Given the description of an element on the screen output the (x, y) to click on. 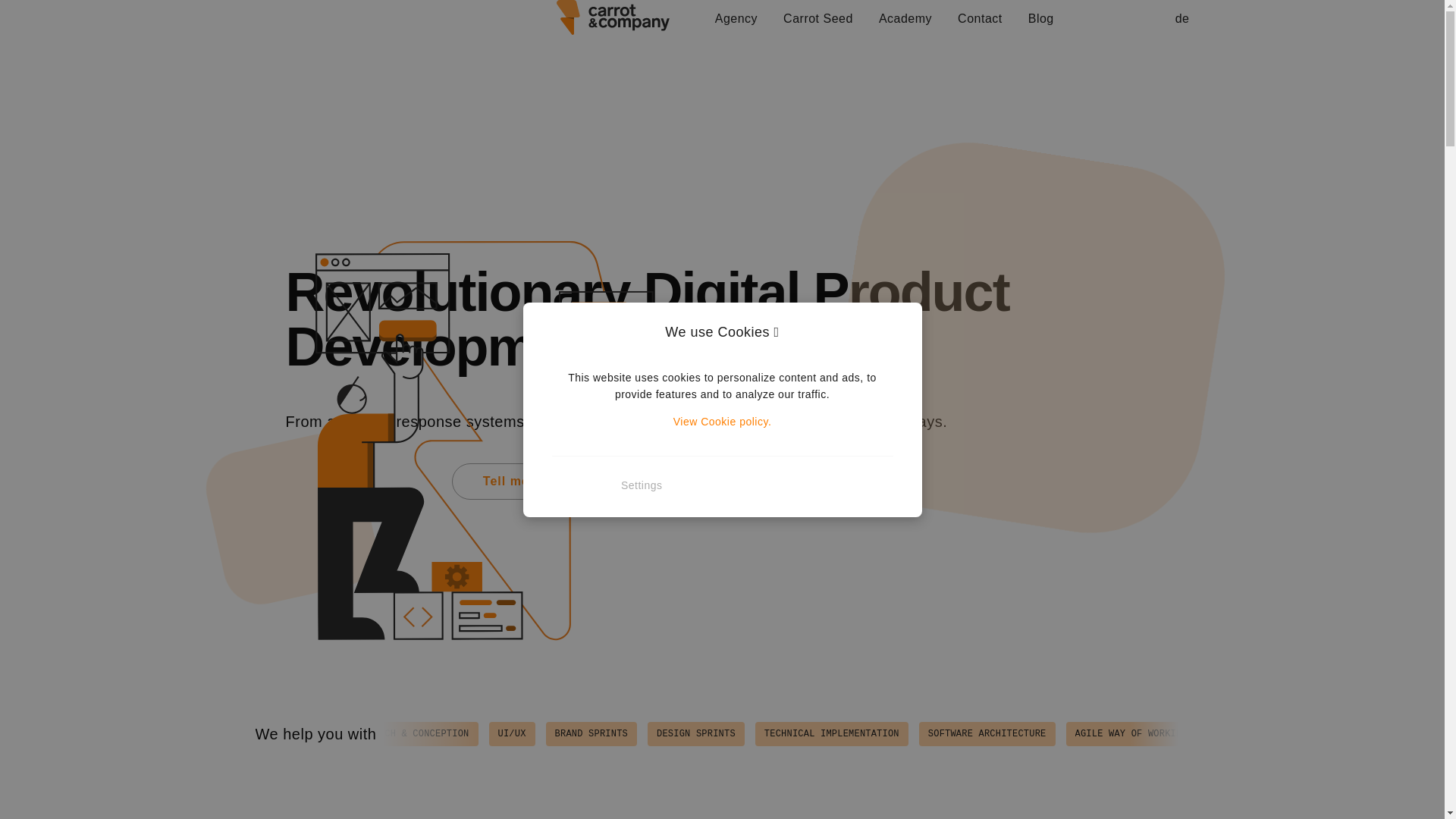
DESIGN SPRINTS (827, 733)
Get in touch (355, 481)
Contact (980, 18)
SOFTWARE ARCHITECTURE (1113, 733)
Tell me more (523, 481)
BUSINESS MODELING (413, 733)
de (1181, 18)
Agency (735, 18)
Tell me more (512, 480)
Carrot Seed (818, 18)
Blog (1040, 18)
TECHNICAL IMPLEMENTATION (959, 733)
Get in touch (356, 480)
Academy (905, 18)
BRAND SPRINTS (725, 733)
